Given the description of an element on the screen output the (x, y) to click on. 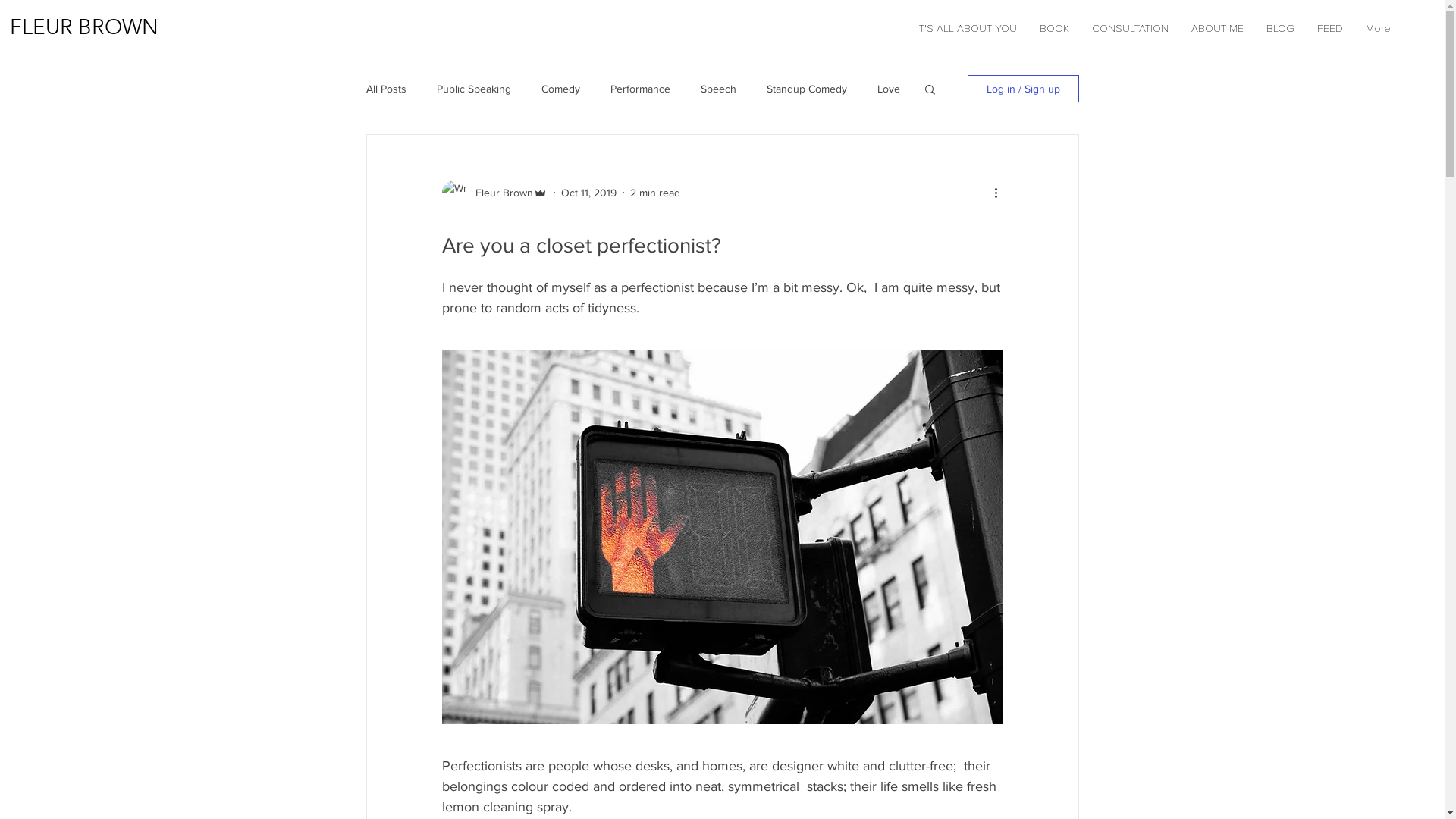
All Posts Element type: text (385, 88)
ABOUT ME Element type: text (1217, 27)
Performance Element type: text (639, 88)
Standup Comedy Element type: text (805, 88)
Comedy Element type: text (560, 88)
BLOG Element type: text (1279, 27)
Speech Element type: text (718, 88)
FLEUR BROWN Element type: text (84, 26)
Public Speaking Element type: text (473, 88)
BOOK Element type: text (1054, 27)
CONSULTATION Element type: text (1129, 27)
Love Element type: text (887, 88)
Log in / Sign up Element type: text (1023, 88)
FEED Element type: text (1329, 27)
IT'S ALL ABOUT YOU Element type: text (966, 27)
